Given the description of an element on the screen output the (x, y) to click on. 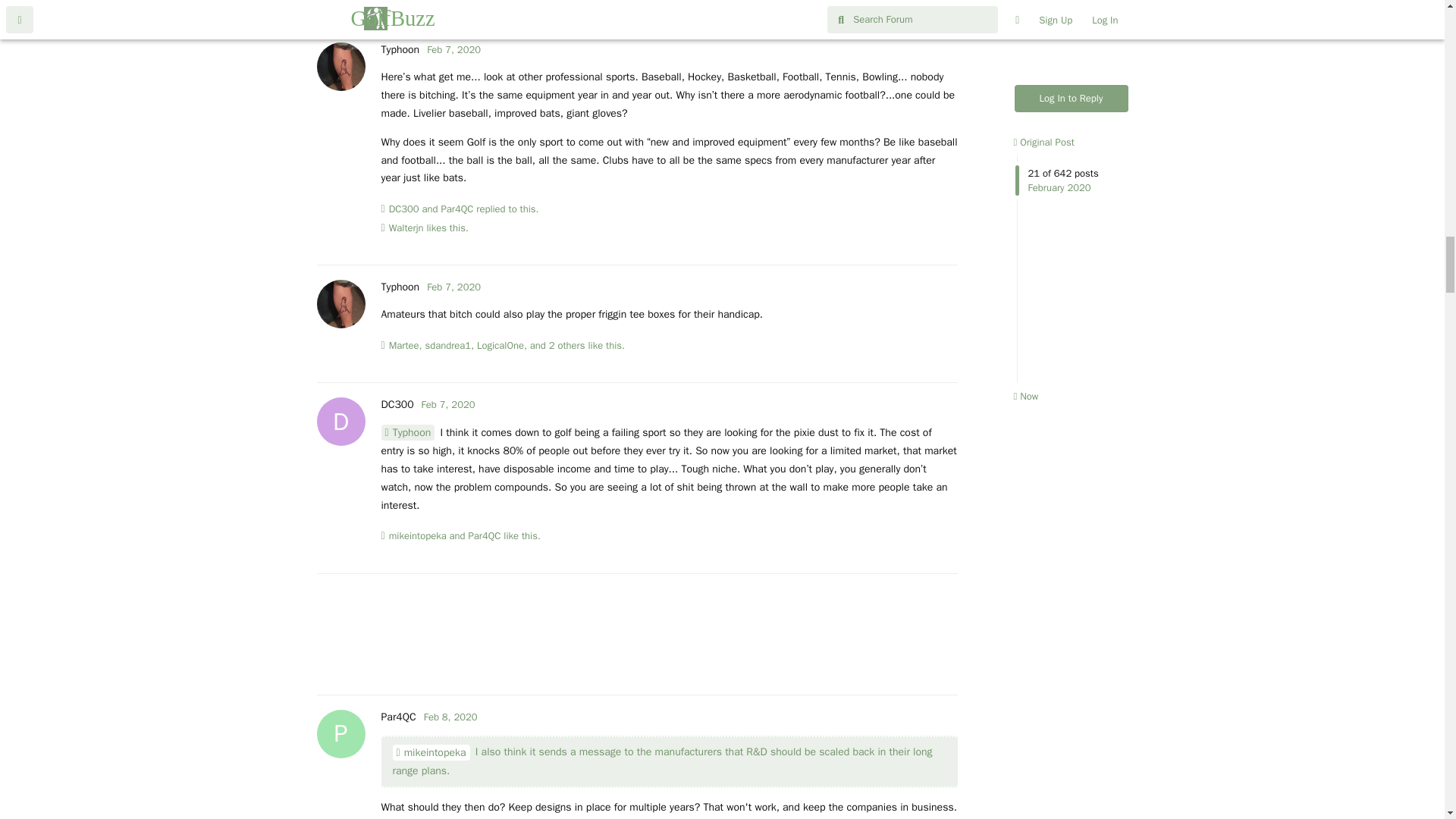
Friday, February 7, 2020 11:17 PM (453, 286)
Friday, February 7, 2020 11:42 PM (449, 404)
Saturday, February 8, 2020 12:19 AM (450, 716)
Friday, February 7, 2020 11:15 PM (453, 49)
